Given the description of an element on the screen output the (x, y) to click on. 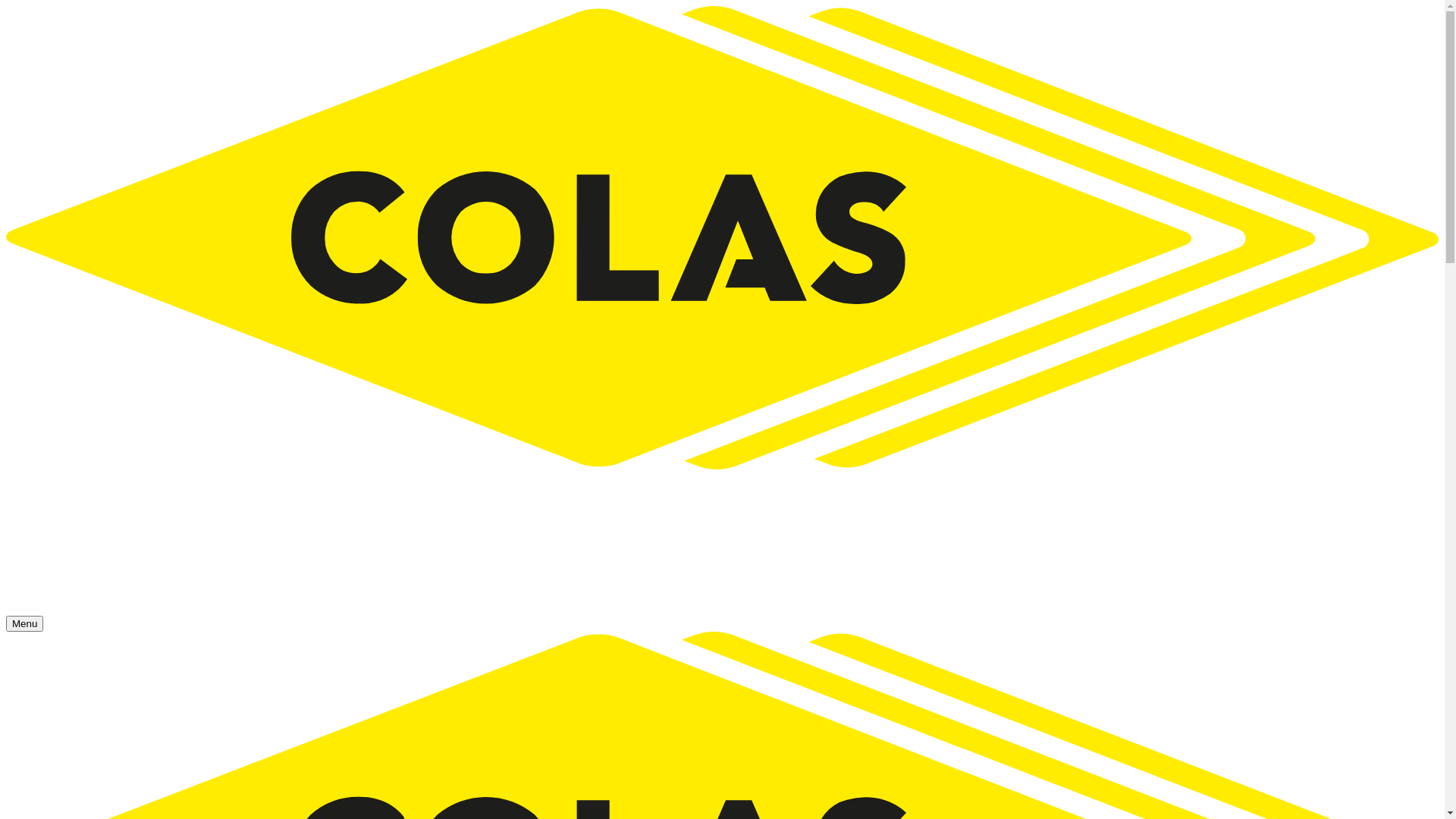
Menu Element type: text (24, 623)
Overslaan en naar de inhoud gaan Element type: text (6, 6)
